Given the description of an element on the screen output the (x, y) to click on. 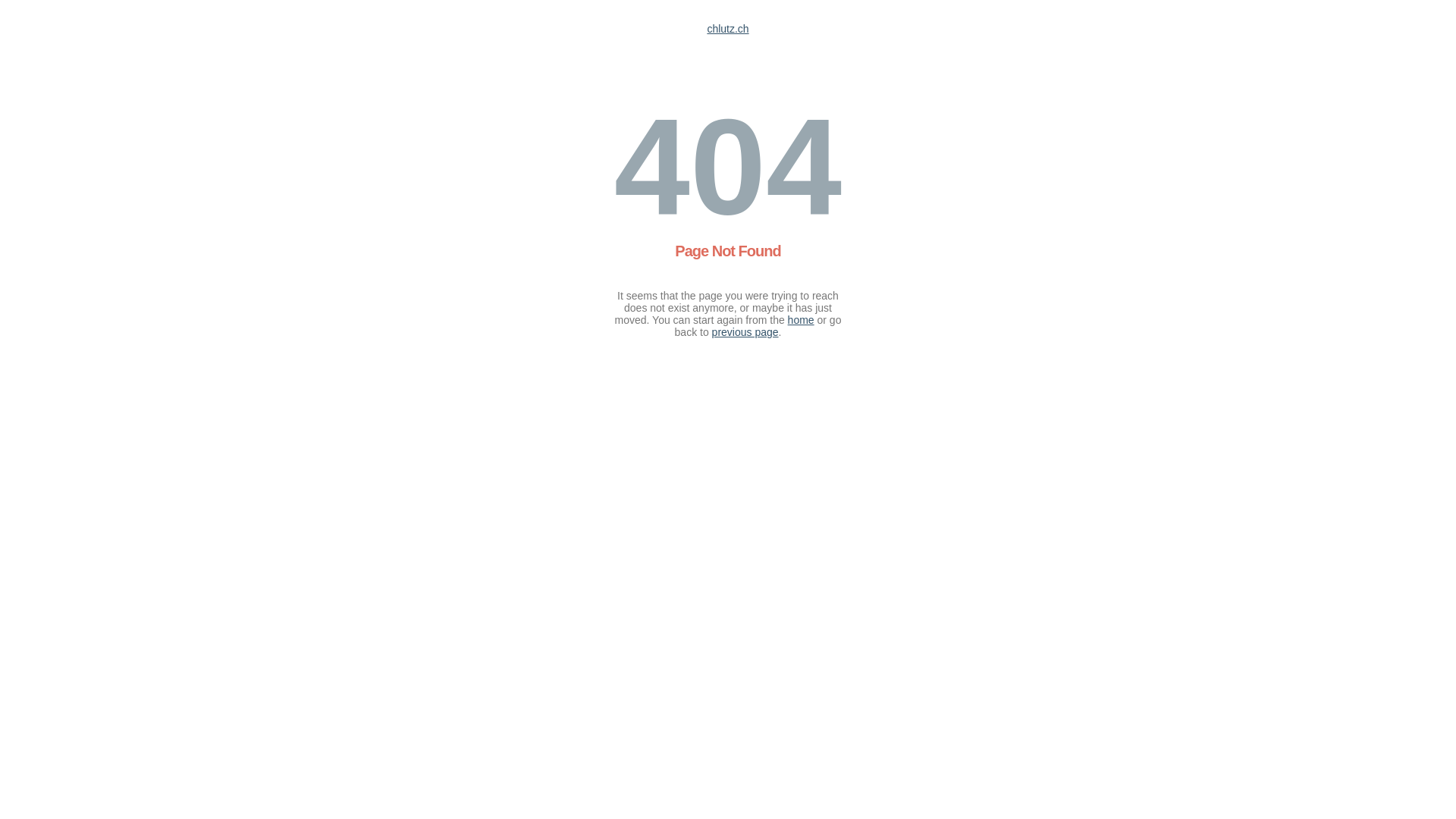
previous page Element type: text (745, 332)
chlutz.ch Element type: text (727, 28)
home Element type: text (800, 319)
